Given the description of an element on the screen output the (x, y) to click on. 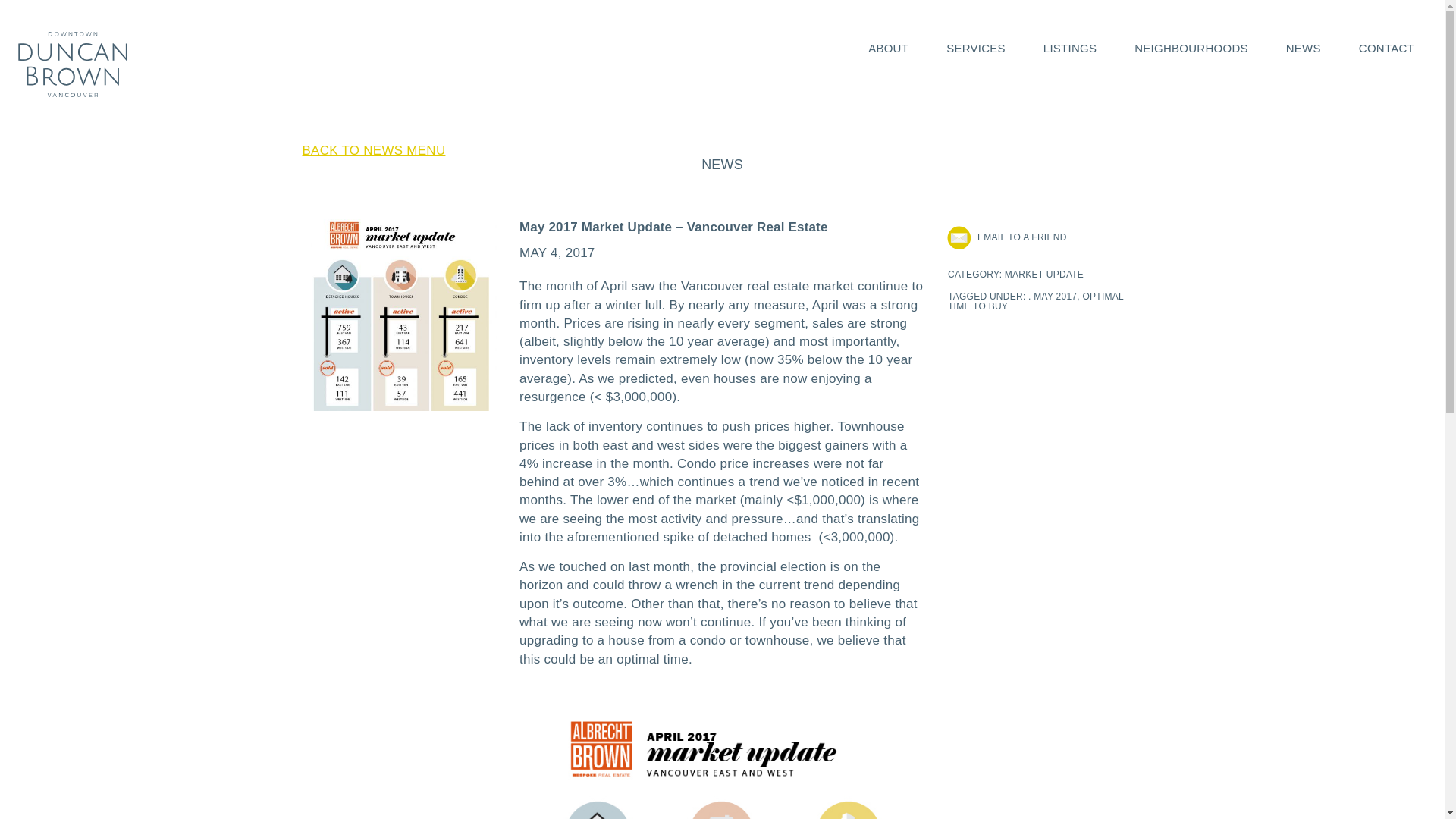
MARKET UPDATE (1043, 274)
SERVICES (976, 48)
NEIGHBOURHOODS (1190, 48)
ABOUT (887, 48)
CONTACT (1385, 48)
OPTIMAL TIME TO BUY (1035, 301)
MAY 2017 (1055, 296)
BACK TO NEWS MENU (367, 150)
LISTINGS (1070, 48)
About (887, 48)
Neighbourhoods (1190, 48)
Listings (1070, 48)
Services (976, 48)
EMAIL TO A FRIEND (1021, 236)
NEWS (1302, 48)
